Given the description of an element on the screen output the (x, y) to click on. 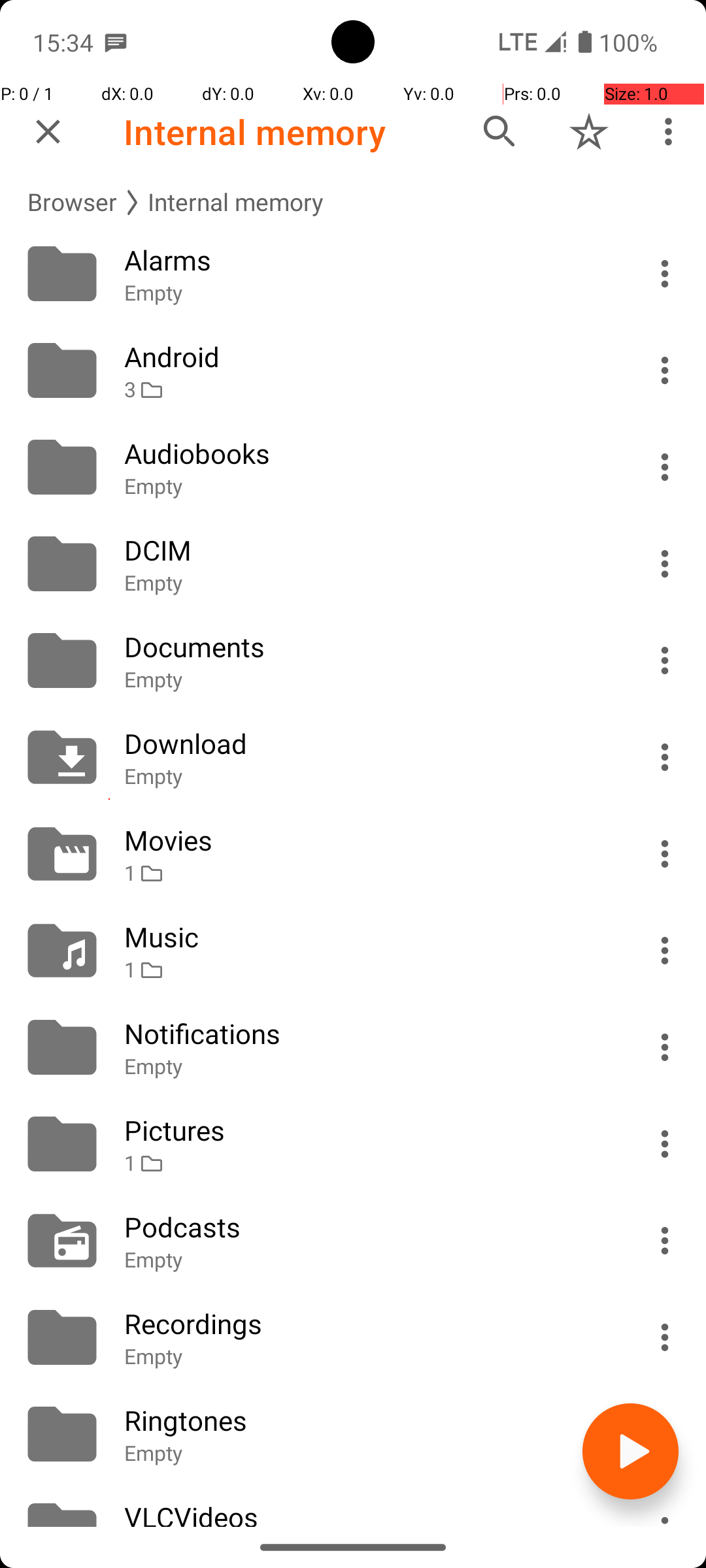
Folder: Alarms, Empty Element type: android.view.ViewGroup (353, 273)
Folder: Android, 3 subfolders Element type: android.view.ViewGroup (353, 370)
Folder: Audiobooks, Empty Element type: android.view.ViewGroup (353, 466)
Folder: DCIM, Empty Element type: android.view.ViewGroup (353, 563)
Folder: Documents, Empty Element type: android.view.ViewGroup (353, 660)
Folder: Download, Empty Element type: android.view.ViewGroup (353, 756)
Folder: Movies, 1 subfolder Element type: android.view.ViewGroup (353, 853)
Folder: Music, 1 subfolder Element type: android.view.ViewGroup (353, 950)
Folder: Notifications, Empty Element type: android.view.ViewGroup (353, 1046)
Folder: Pictures, 1 subfolder Element type: android.view.ViewGroup (353, 1143)
Folder: Podcasts, Empty Element type: android.view.ViewGroup (353, 1240)
Folder: Recordings, Empty Element type: android.view.ViewGroup (353, 1337)
Folder: Ringtones, Empty Element type: android.view.ViewGroup (353, 1433)
Folder: VLCVideos, 20 media files Element type: android.view.ViewGroup (353, 1504)
Alarms Element type: android.widget.TextView (366, 259)
Android Element type: android.widget.TextView (366, 356)
3 §*§ Element type: android.widget.TextView (366, 389)
Audiobooks Element type: android.widget.TextView (366, 452)
Recordings Element type: android.widget.TextView (366, 1322)
Ringtones Element type: android.widget.TextView (366, 1419)
